Given the description of an element on the screen output the (x, y) to click on. 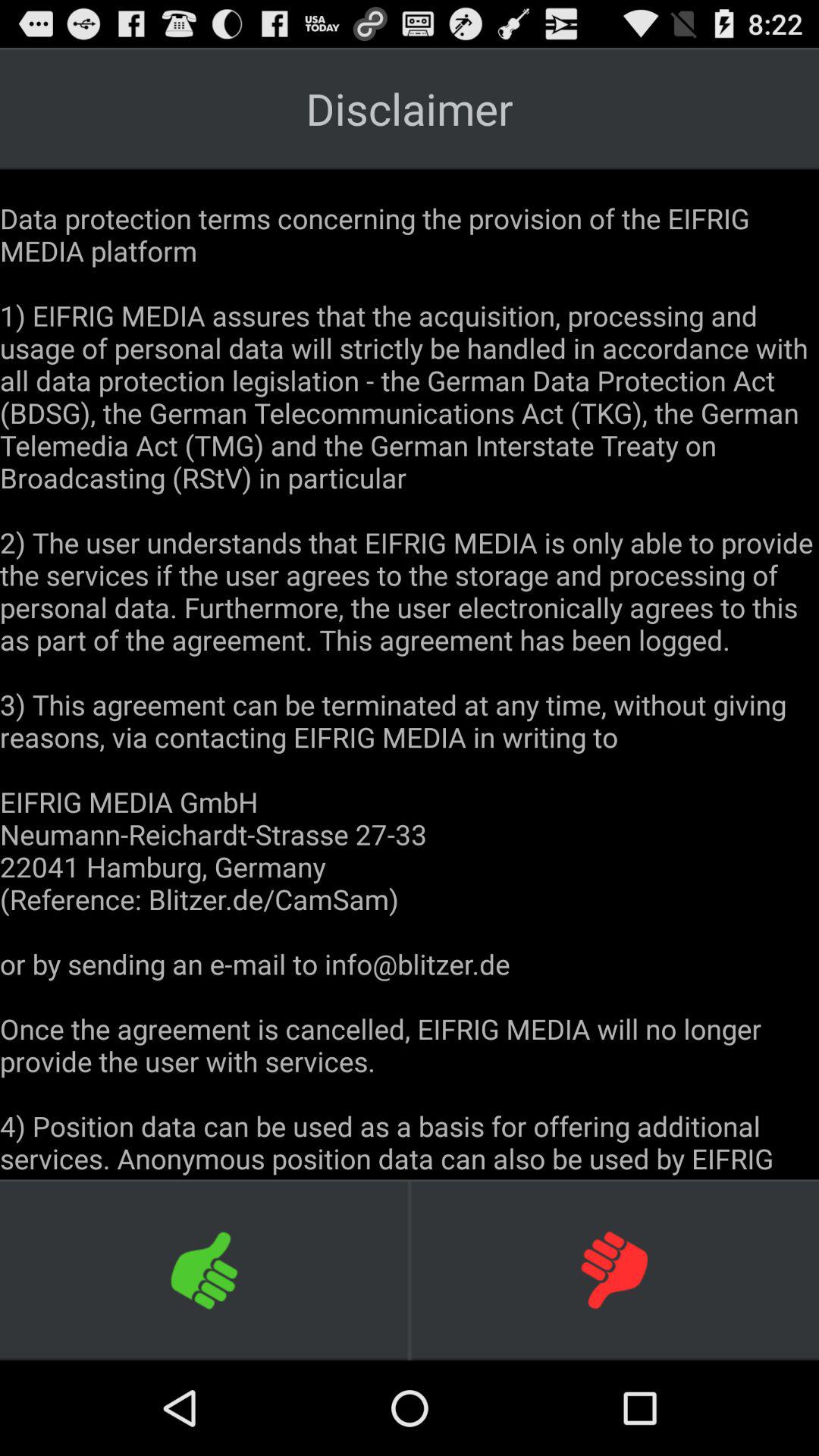
agree to disclaimer (204, 1269)
